Given the description of an element on the screen output the (x, y) to click on. 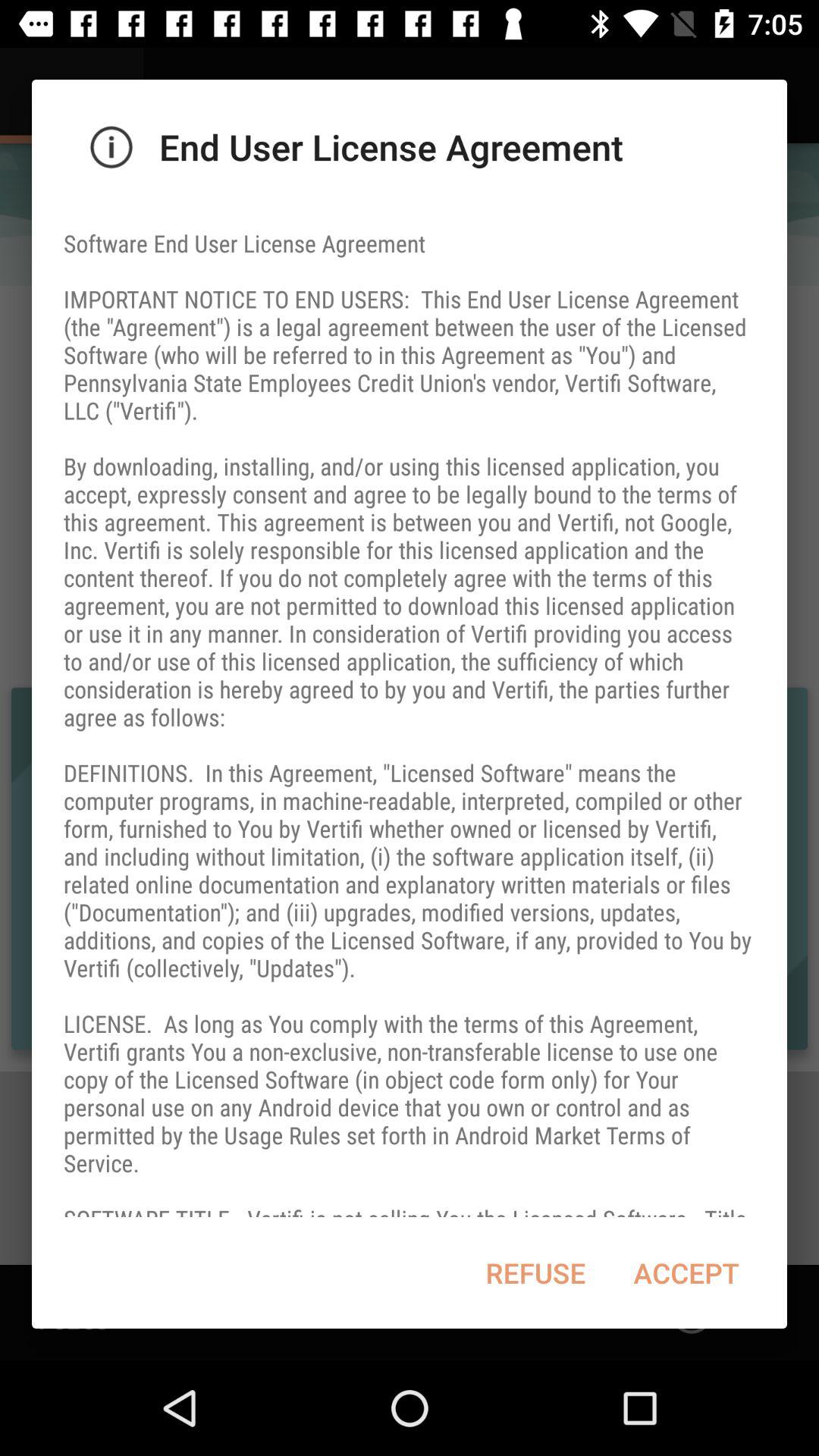
flip until accept item (686, 1272)
